Given the description of an element on the screen output the (x, y) to click on. 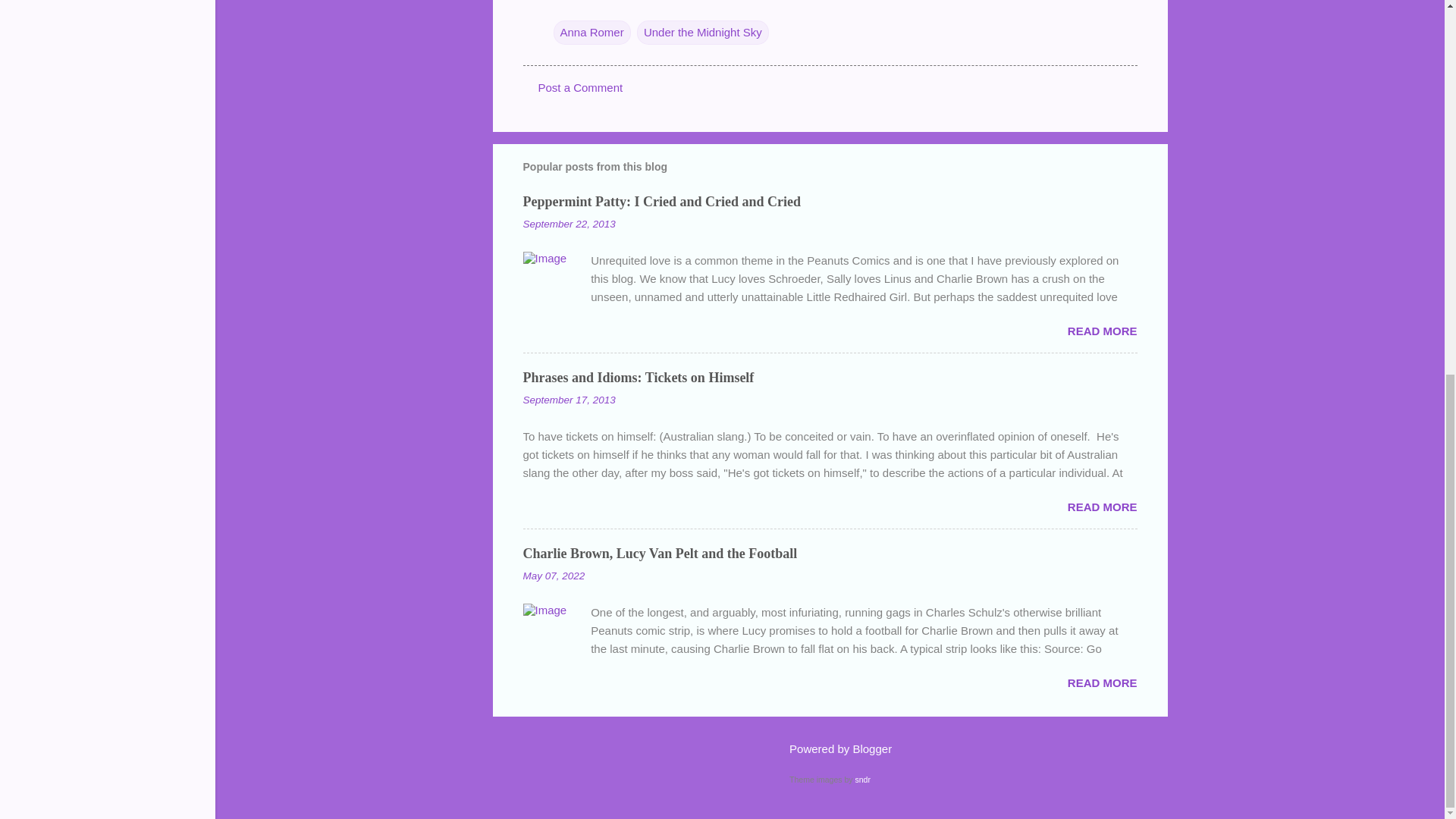
Charlie Brown, Lucy Van Pelt and the Football (659, 553)
September 22, 2013 (568, 224)
permanent link (568, 224)
Peppermint Patty: I Cried and Cried and Cried (661, 201)
READ MORE (1102, 682)
Phrases and Idioms: Tickets on Himself (638, 377)
READ MORE (1102, 506)
May 07, 2022 (553, 575)
Under the Midnight Sky (702, 31)
September 17, 2013 (568, 399)
